Given the description of an element on the screen output the (x, y) to click on. 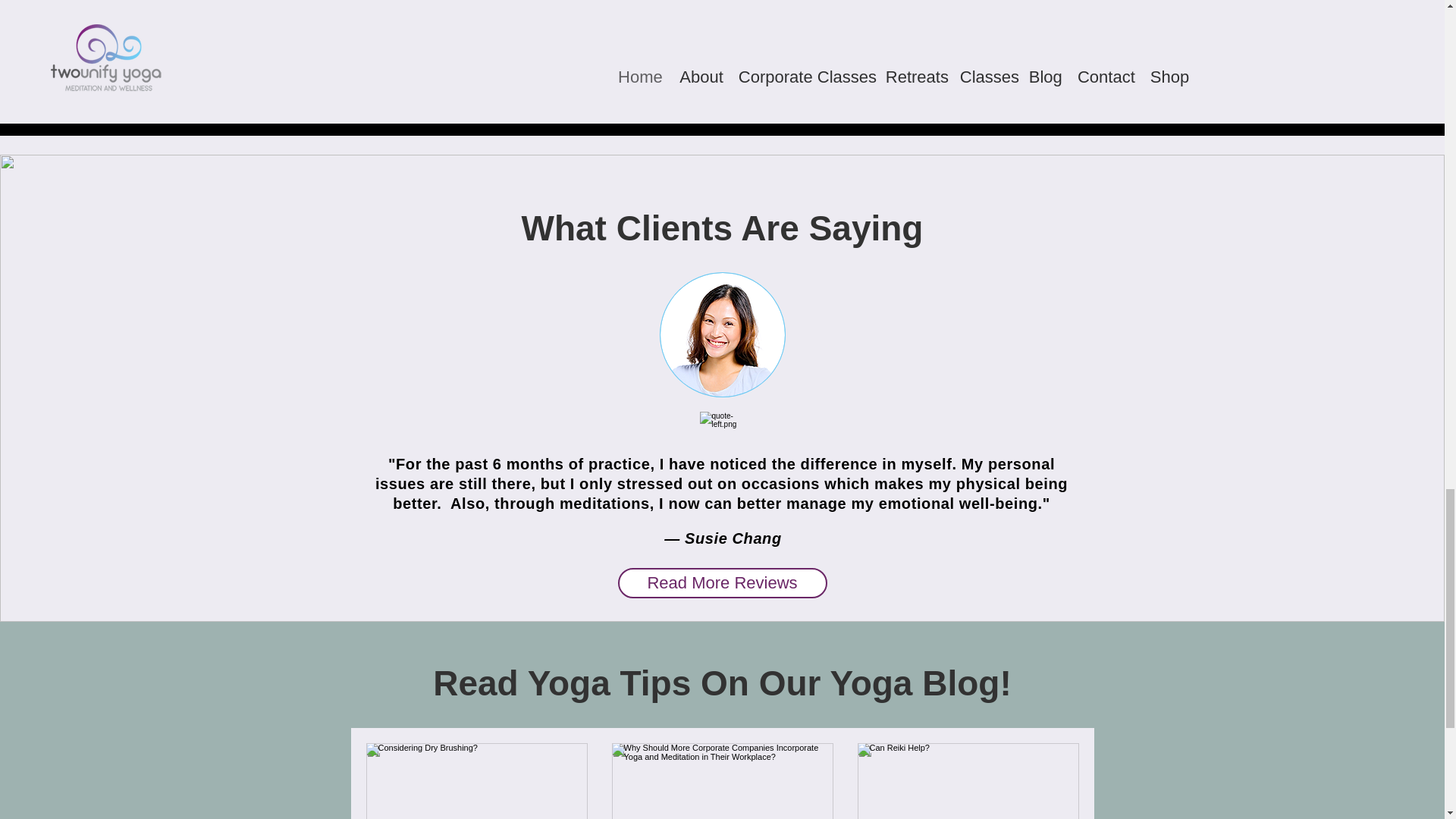
Read More Reviews (722, 583)
